Given the description of an element on the screen output the (x, y) to click on. 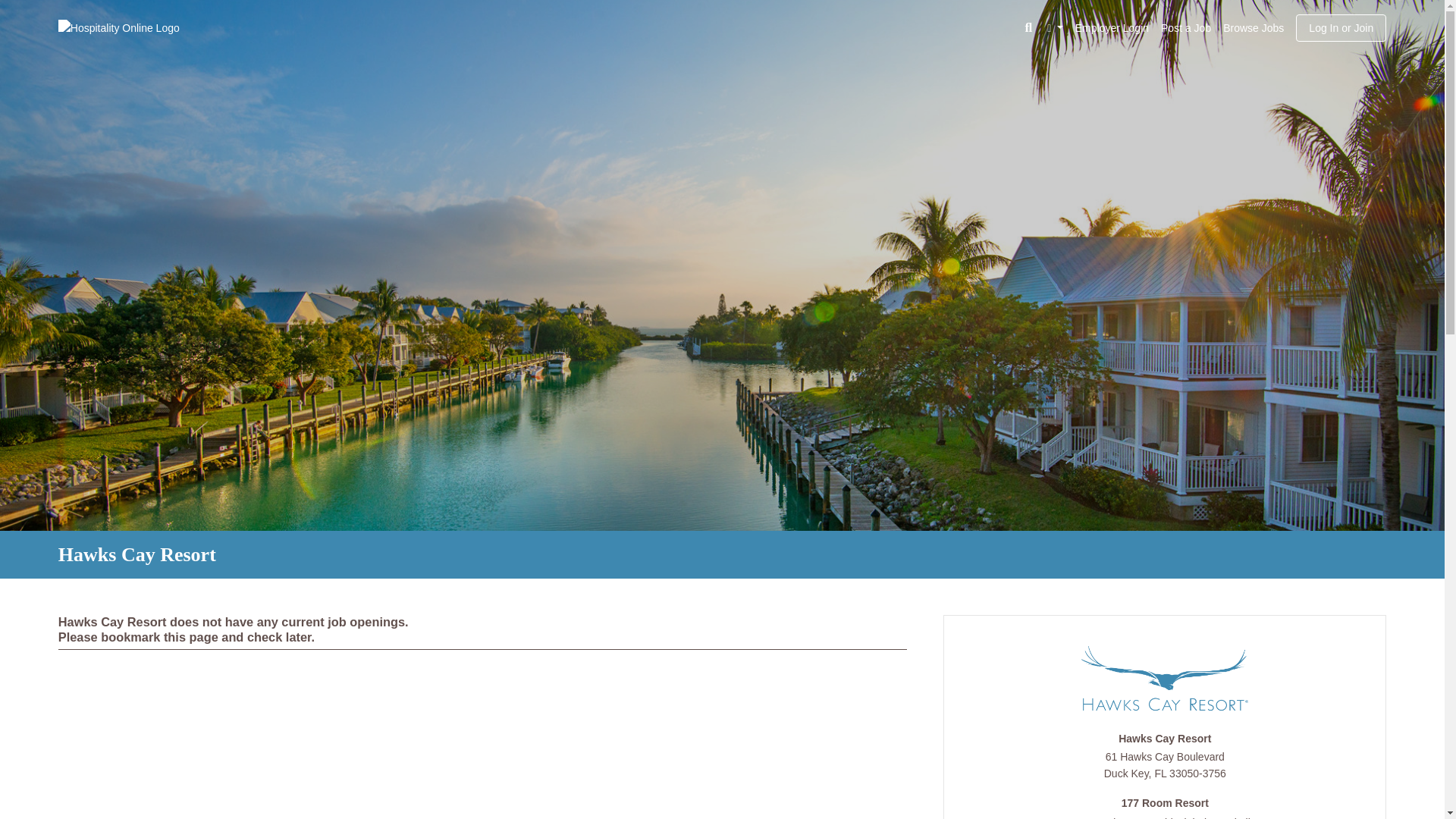
Employer Login (1111, 27)
Post a Job (1185, 30)
Log In or Join (1340, 27)
Hawks Cay Resort (1164, 740)
Pyramid Global Hospitality (1195, 817)
Browse Jobs (1253, 30)
Florida (1160, 773)
